Given the description of an element on the screen output the (x, y) to click on. 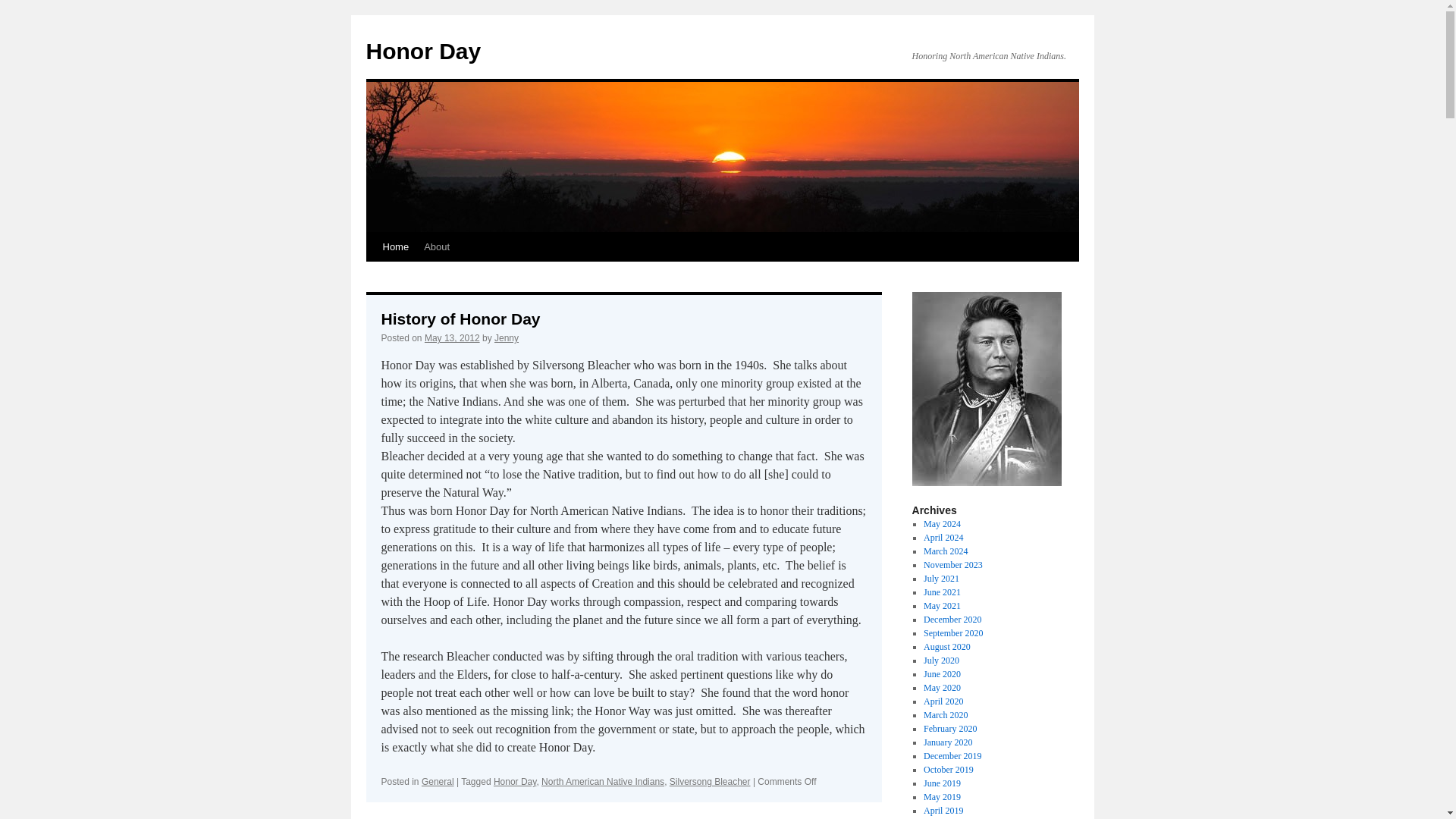
Silversong Bleacher (710, 781)
History of Honor Day (460, 318)
Honor Day (422, 50)
May 13, 2012 (452, 337)
3:27 am (452, 337)
Honor Day (514, 781)
View all posts by Jenny (506, 337)
About (436, 246)
North American Native Indians (602, 781)
Home (395, 246)
Jenny (506, 337)
General (438, 781)
